Given the description of an element on the screen output the (x, y) to click on. 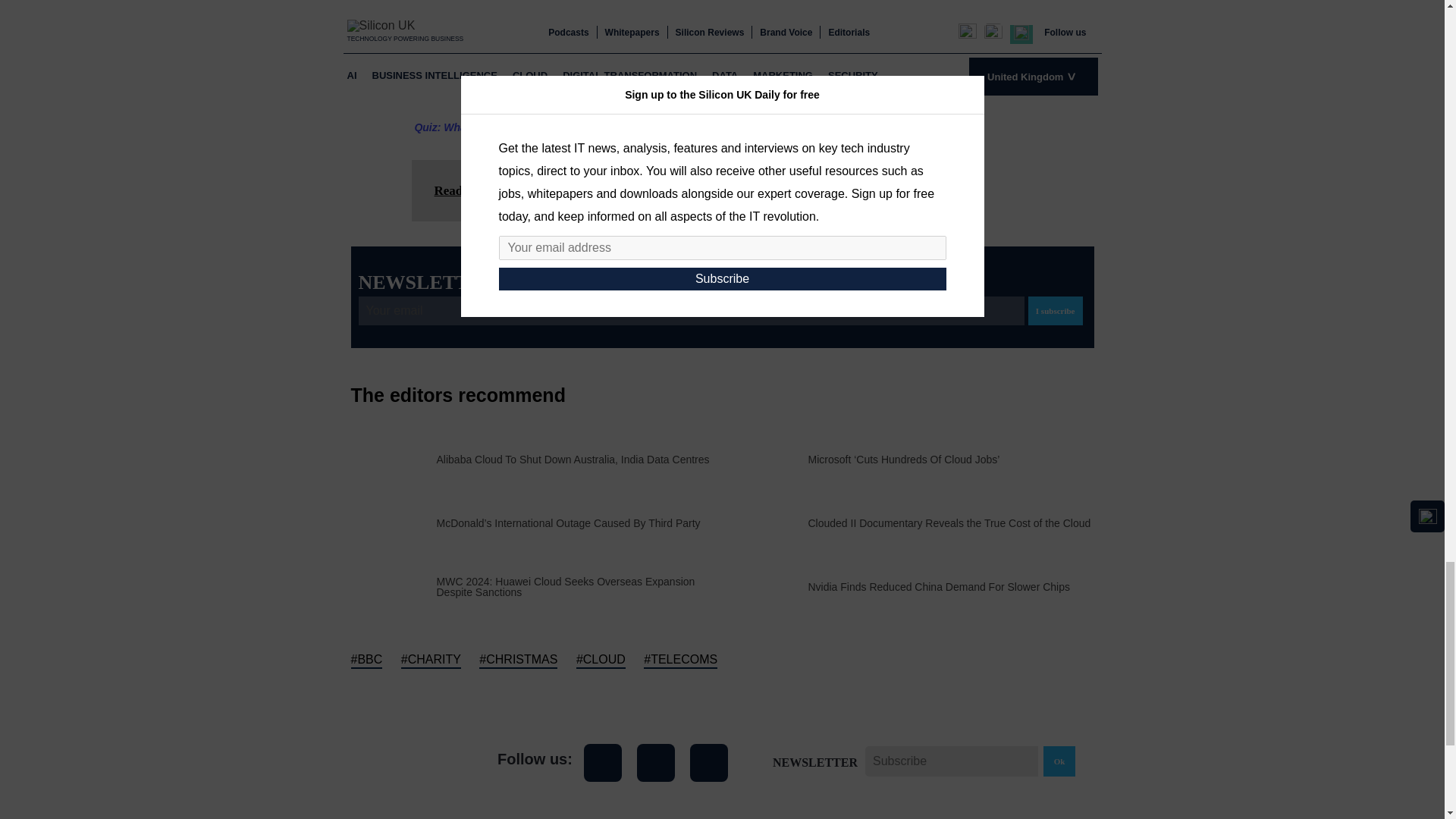
Alibaba Cloud To Shut Down Australia, India Data Centres (573, 459)
Clouded II Documentary Reveals the True Cost of the Cloud (949, 522)
Nvidia Finds Reduced China Demand For Slower Chips (939, 586)
